Given the description of an element on the screen output the (x, y) to click on. 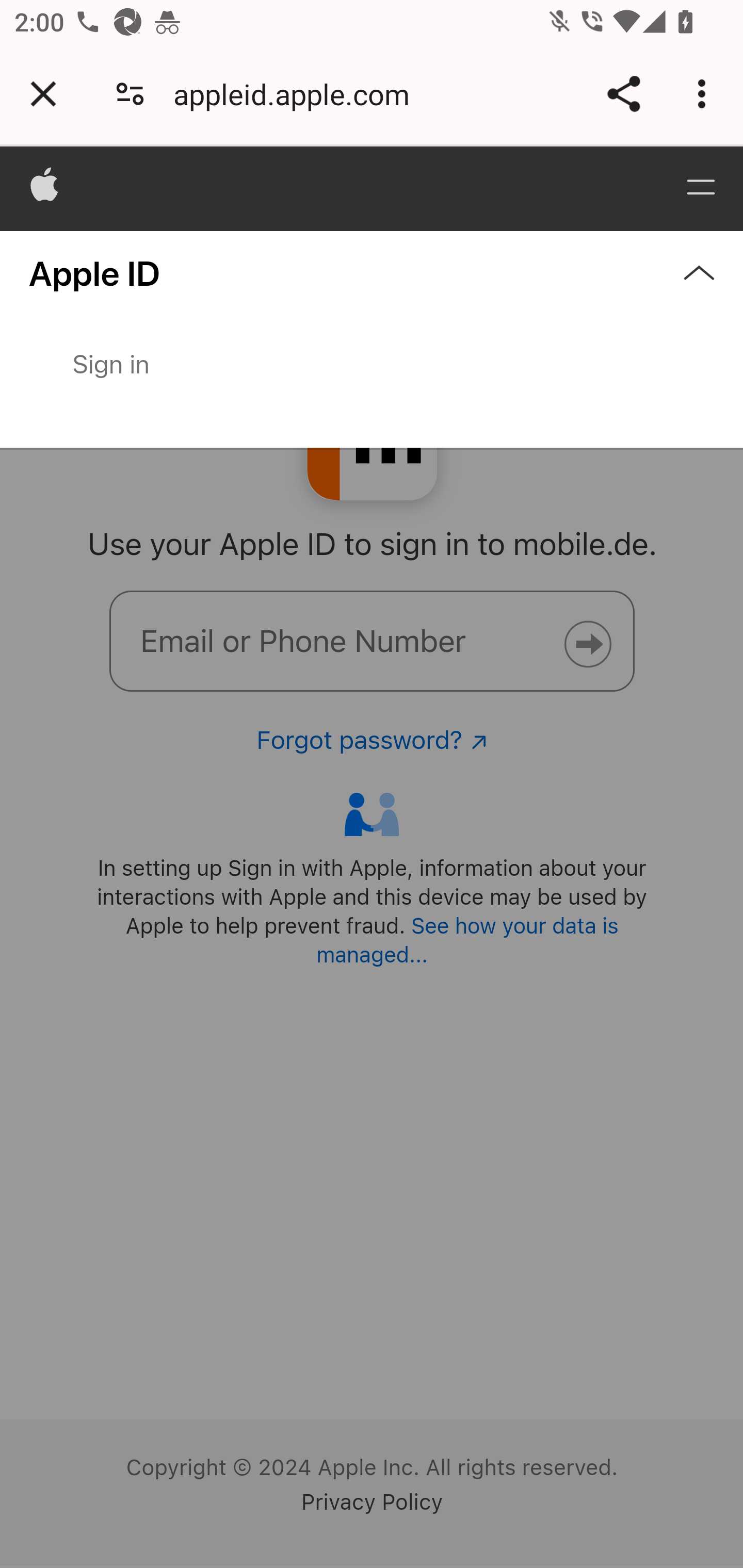
Close tab (43, 93)
Share (623, 93)
Customize and control Google Chrome (705, 93)
Connection is secure (129, 93)
appleid.apple.com (298, 93)
Close Menu (371, 339)
